Given the description of an element on the screen output the (x, y) to click on. 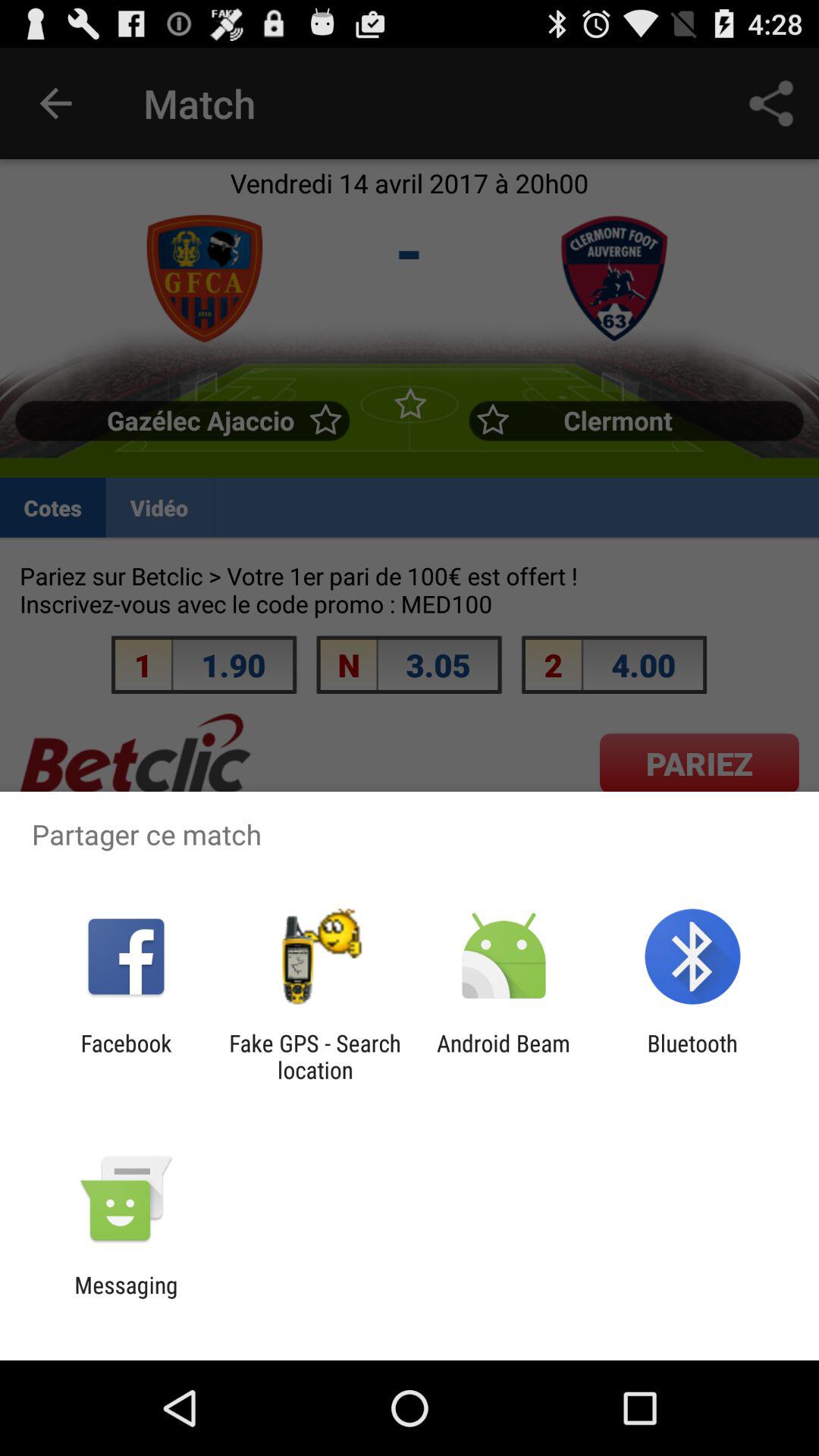
open the bluetooth app (692, 1056)
